Given the description of an element on the screen output the (x, y) to click on. 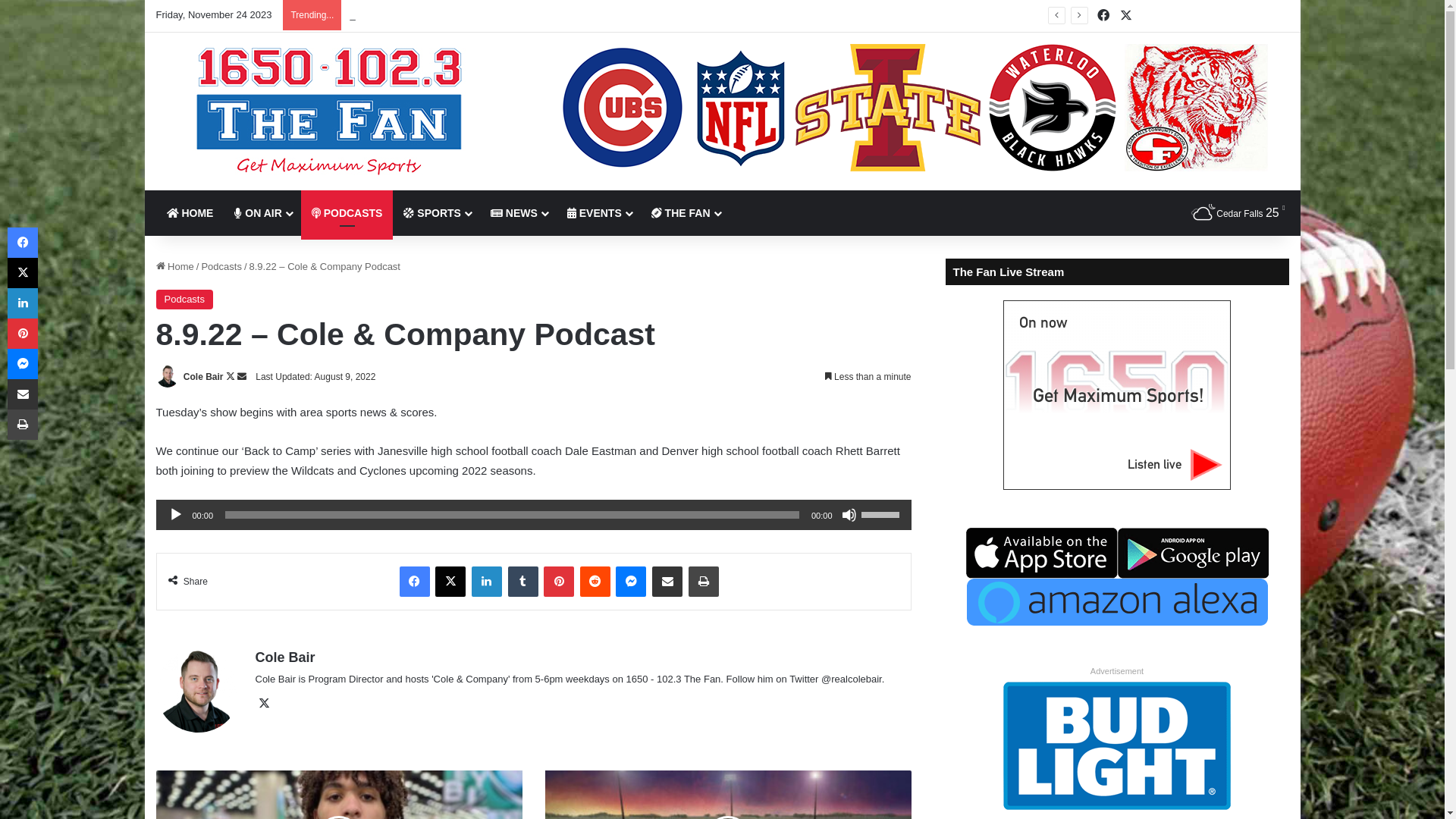
ON AIR Element type: text (261, 212)
Share via Email Element type: text (22, 394)
LinkedIn Element type: text (22, 303)
Home Element type: text (175, 266)
Print Element type: text (22, 424)
Facebook Element type: text (1103, 15)
X Element type: text (450, 581)
HOME Element type: text (190, 212)
NEWS Element type: text (518, 212)
On now
Get Maximum Sports!
Listen live Element type: text (1117, 395)
Send an email Element type: text (241, 376)
Facebook Element type: text (22, 242)
Play Element type: hover (175, 514)
Cole Bair Element type: text (203, 376)
LinkedIn Element type: text (486, 581)
Share via Email Element type: text (667, 581)
X Element type: text (1125, 15)
EVENTS Element type: text (598, 212)
SPORTS Element type: text (435, 212)
Use Up/Down Arrow keys to increase or decrease volume. Element type: text (882, 513)
Mute Element type: hover (848, 514)
Facebook Element type: text (414, 581)
Tumblr Element type: text (523, 581)
Print Element type: text (703, 581)
X Element type: text (263, 703)
PODCASTS Element type: text (347, 212)
Podcasts Element type: text (184, 299)
1650 - 102.3 The Fan Element type: hover (329, 111)
Cole Bair Element type: text (284, 657)
Messenger Element type: text (22, 363)
Follow on X Element type: text (231, 376)
Reddit Element type: text (595, 581)
Holiday Hoopla Kicks Off in Cedar Falls Friday Element type: text (449, 14)
Podcasts Element type: text (220, 266)
Messenger Element type: text (630, 581)
THE FAN Element type: text (684, 212)
Pinterest Element type: text (558, 581)
Pinterest Element type: text (22, 333)
X Element type: text (22, 272)
